Given the description of an element on the screen output the (x, y) to click on. 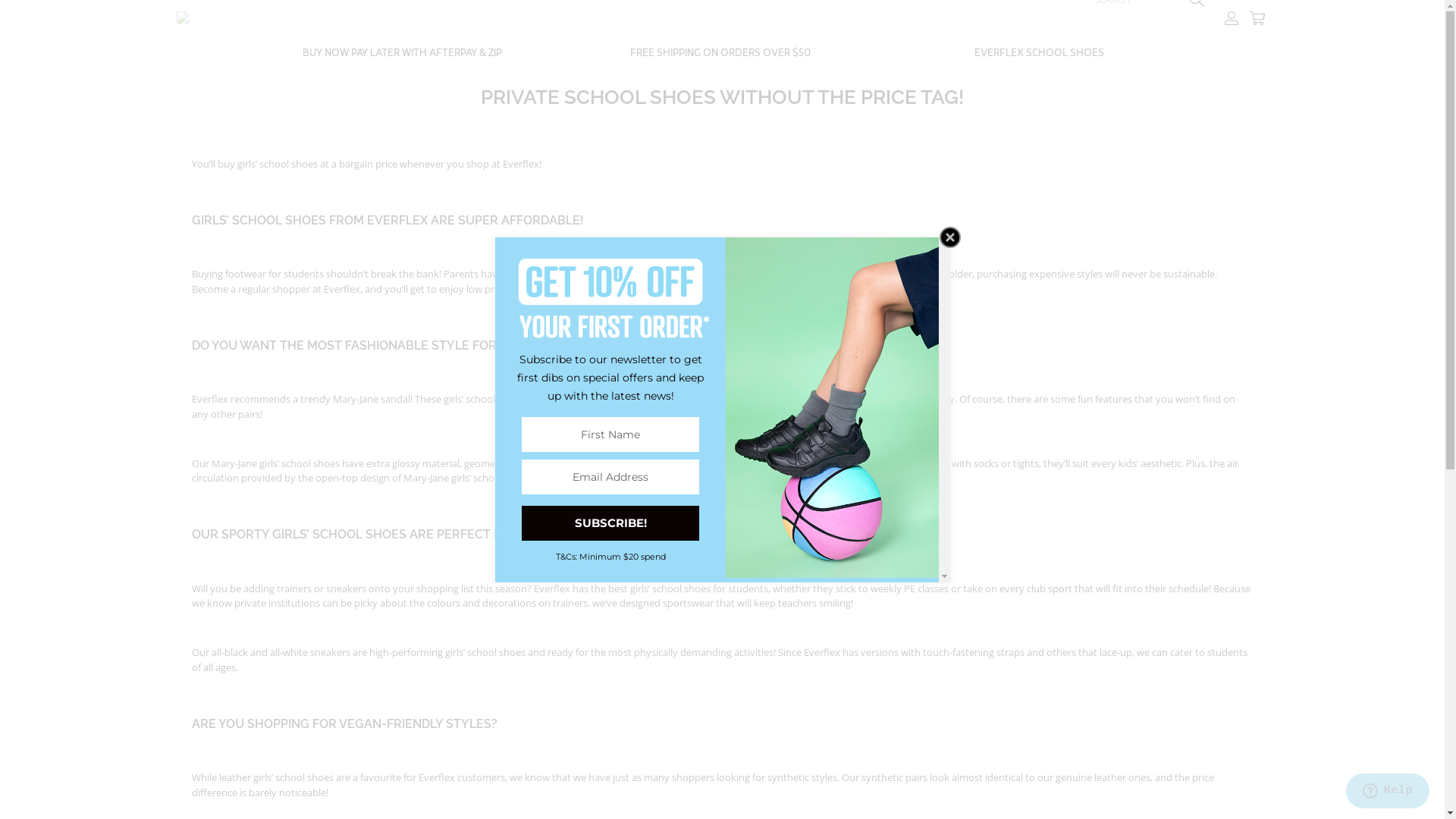
EVERFLEX SCHOOL SHOES Element type: text (1039, 53)
Everflex Shoes Element type: hover (181, 18)
FREE SHIPPING ON ORDERS OVER $50 Element type: text (720, 53)
Opens a widget where you can find more information Element type: hover (1387, 792)
BUY NOW PAY LATER WITH AFTERPAY & ZIP Element type: text (402, 53)
